Given the description of an element on the screen output the (x, y) to click on. 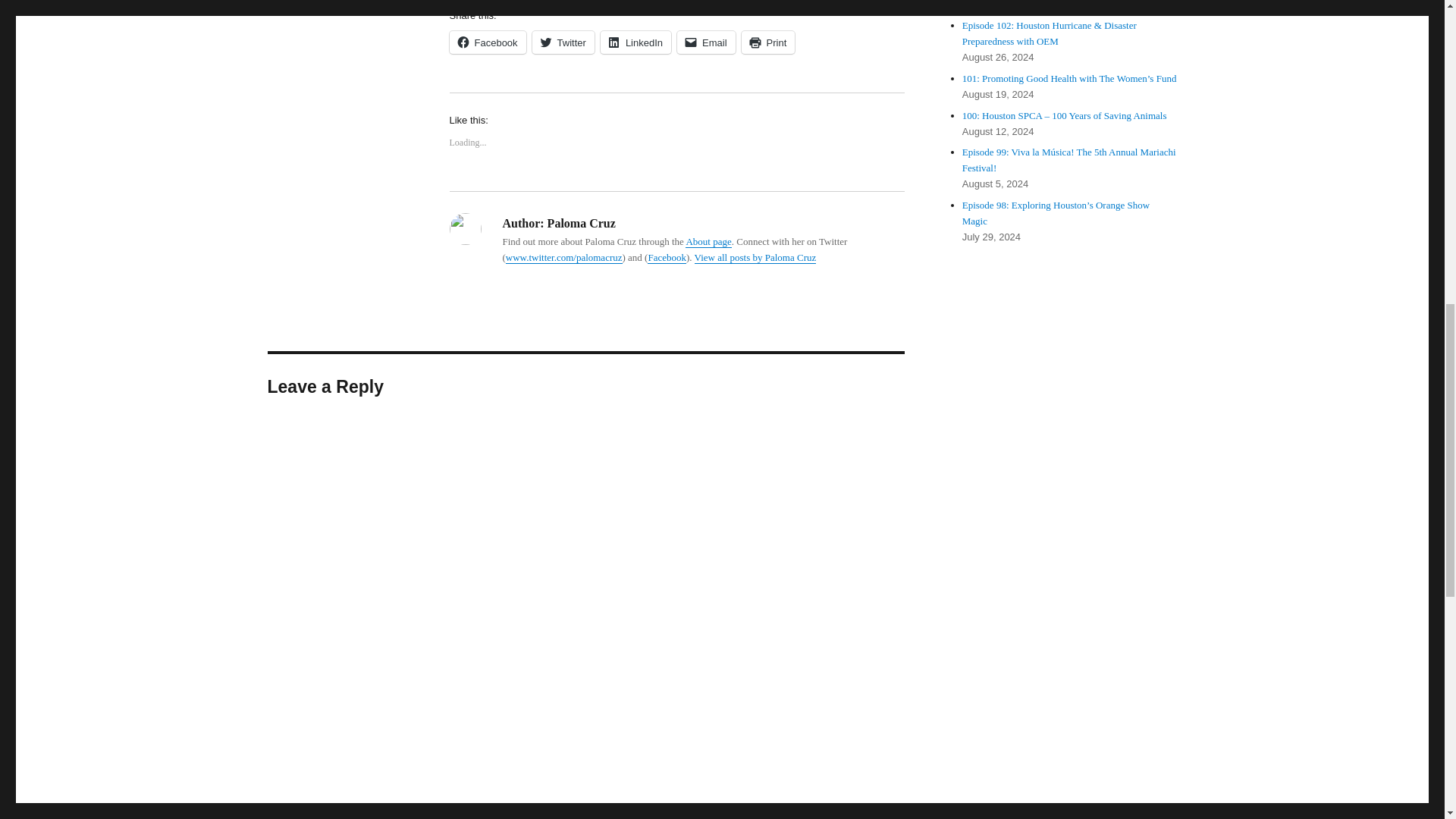
Print (767, 42)
Click to print (767, 42)
Click to share on Facebook (486, 42)
Click to email a link to a friend (706, 42)
Email (706, 42)
View all posts by Paloma Cruz (755, 256)
Facebook (666, 256)
LinkedIn (635, 42)
Click to share on Twitter (563, 42)
